Given the description of an element on the screen output the (x, y) to click on. 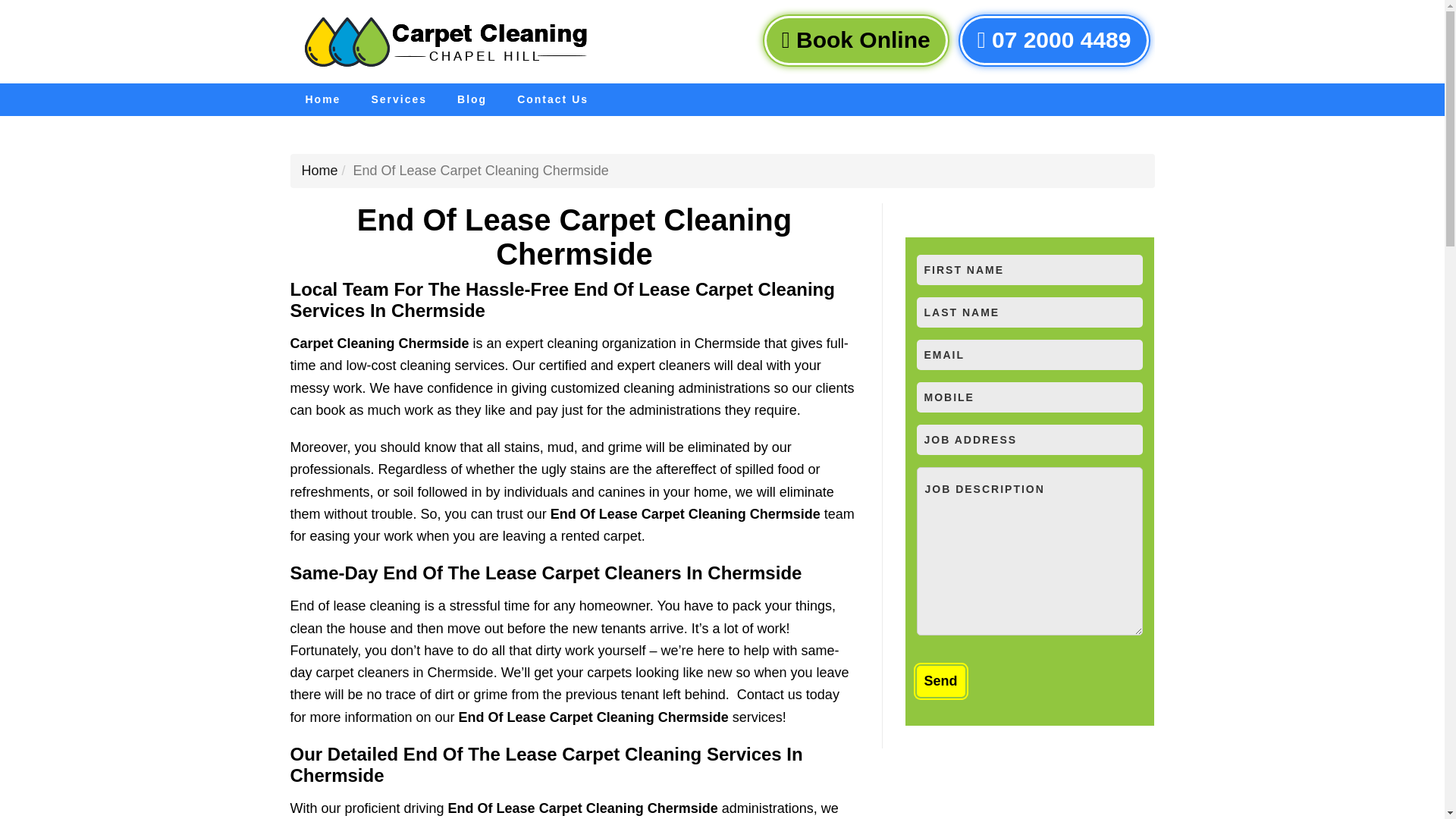
Book Online (855, 40)
Home (319, 170)
07 2000 4489 (1053, 40)
Send (939, 680)
Blog (472, 99)
Contact Us (553, 99)
Send (939, 680)
Services (398, 99)
Home (322, 99)
